Given the description of an element on the screen output the (x, y) to click on. 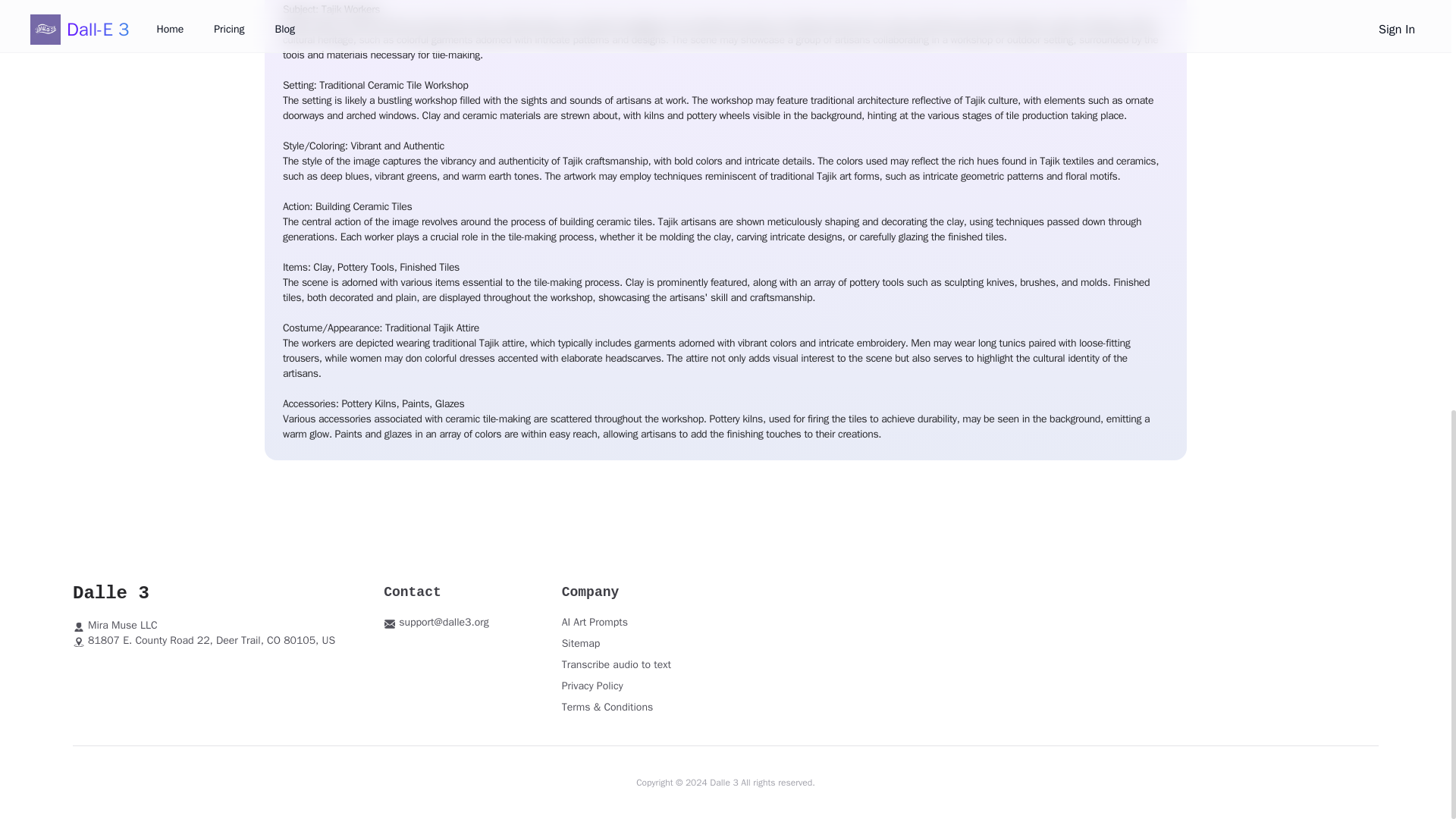
Privacy Policy (592, 685)
AI Art Prompts (594, 622)
Transcribe audio to text (616, 664)
Sitemap (580, 643)
